Given the description of an element on the screen output the (x, y) to click on. 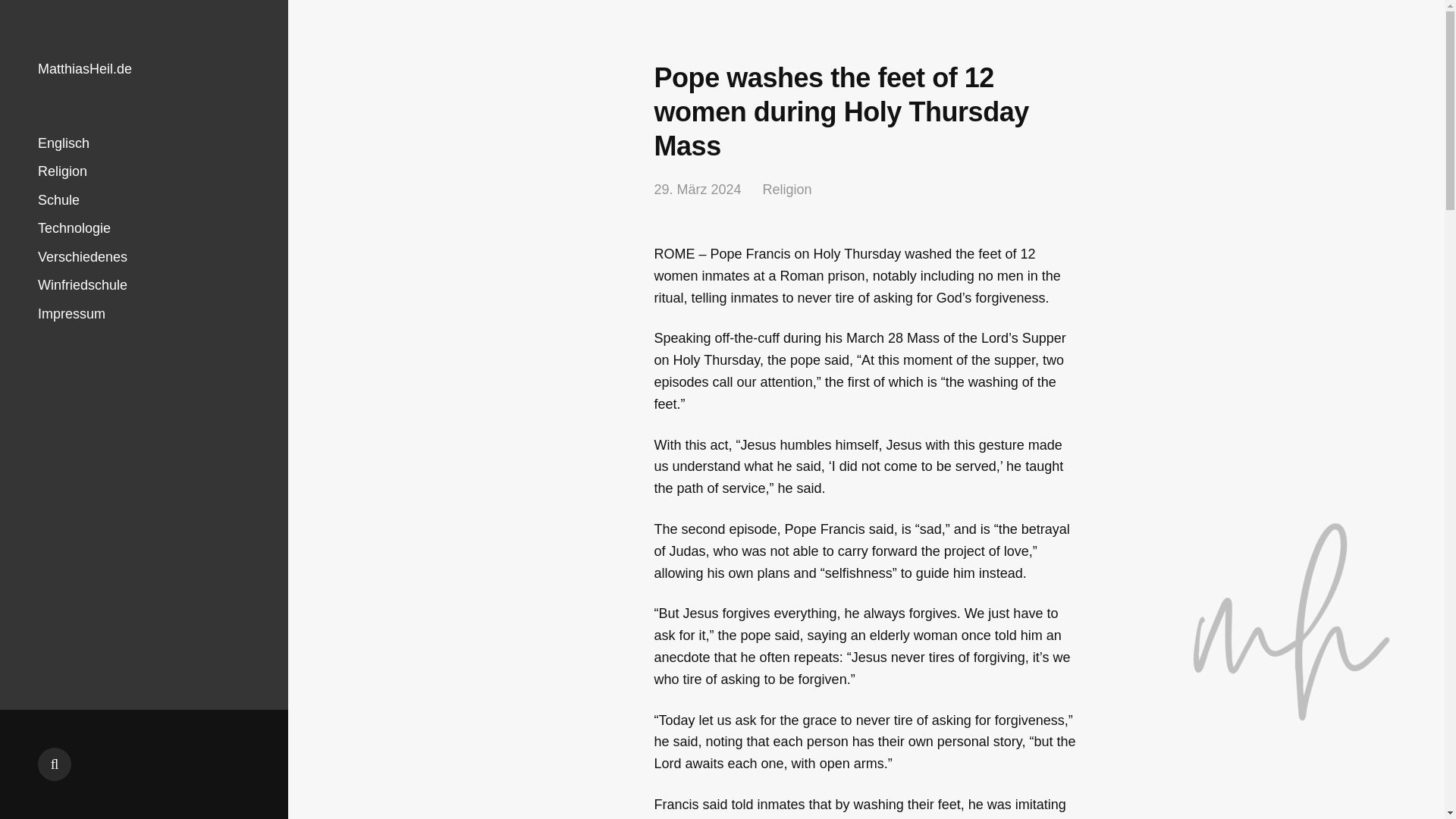
Technologie (73, 228)
Winfriedschule (82, 285)
Verschiedenes (82, 256)
Religion (787, 189)
Impressum (70, 314)
MatthiasHeil.de (84, 68)
Religion (62, 171)
Schule (58, 200)
Englisch (62, 142)
